Given the description of an element on the screen output the (x, y) to click on. 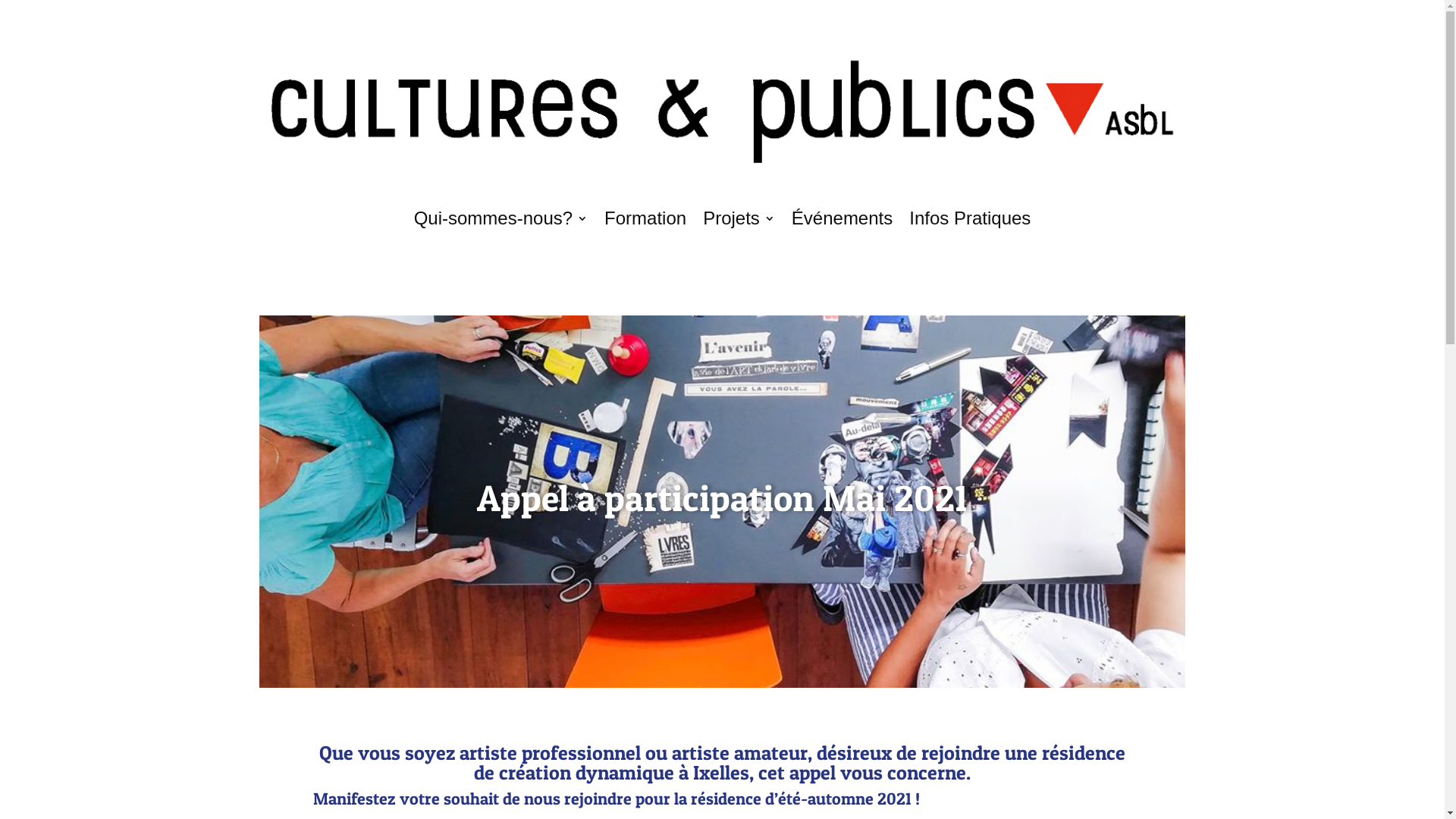
Infos Pratiques Element type: text (969, 218)
Projets Element type: text (738, 218)
Formation Element type: text (645, 218)
Qui-sommes-nous? Element type: text (500, 218)
